Given the description of an element on the screen output the (x, y) to click on. 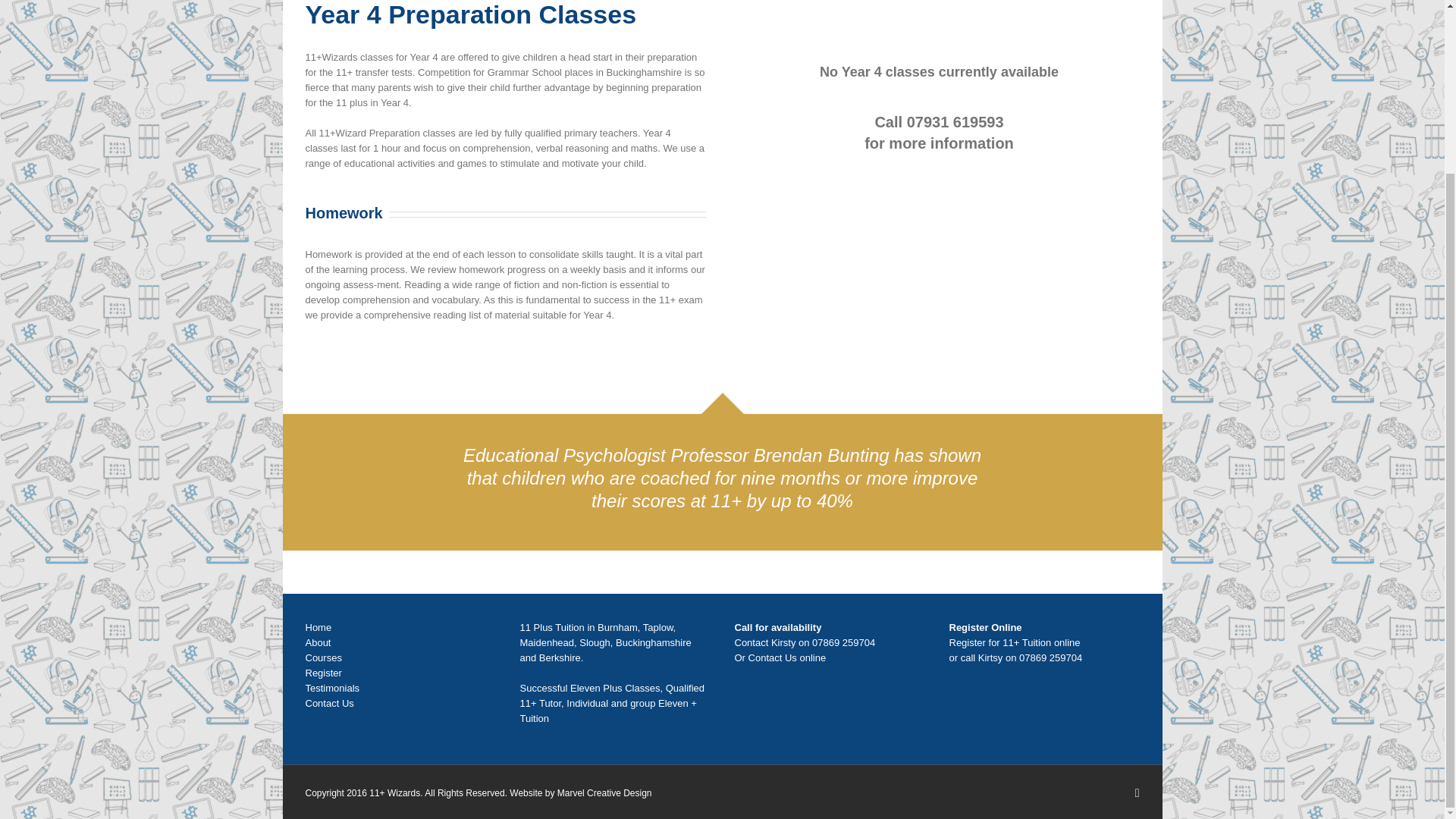
Testimonials (331, 687)
Contact Us online (787, 657)
Home (317, 627)
About (317, 642)
Register (322, 672)
Marvel Creative Design (604, 792)
Courses (322, 657)
Contact Us (328, 703)
